Given the description of an element on the screen output the (x, y) to click on. 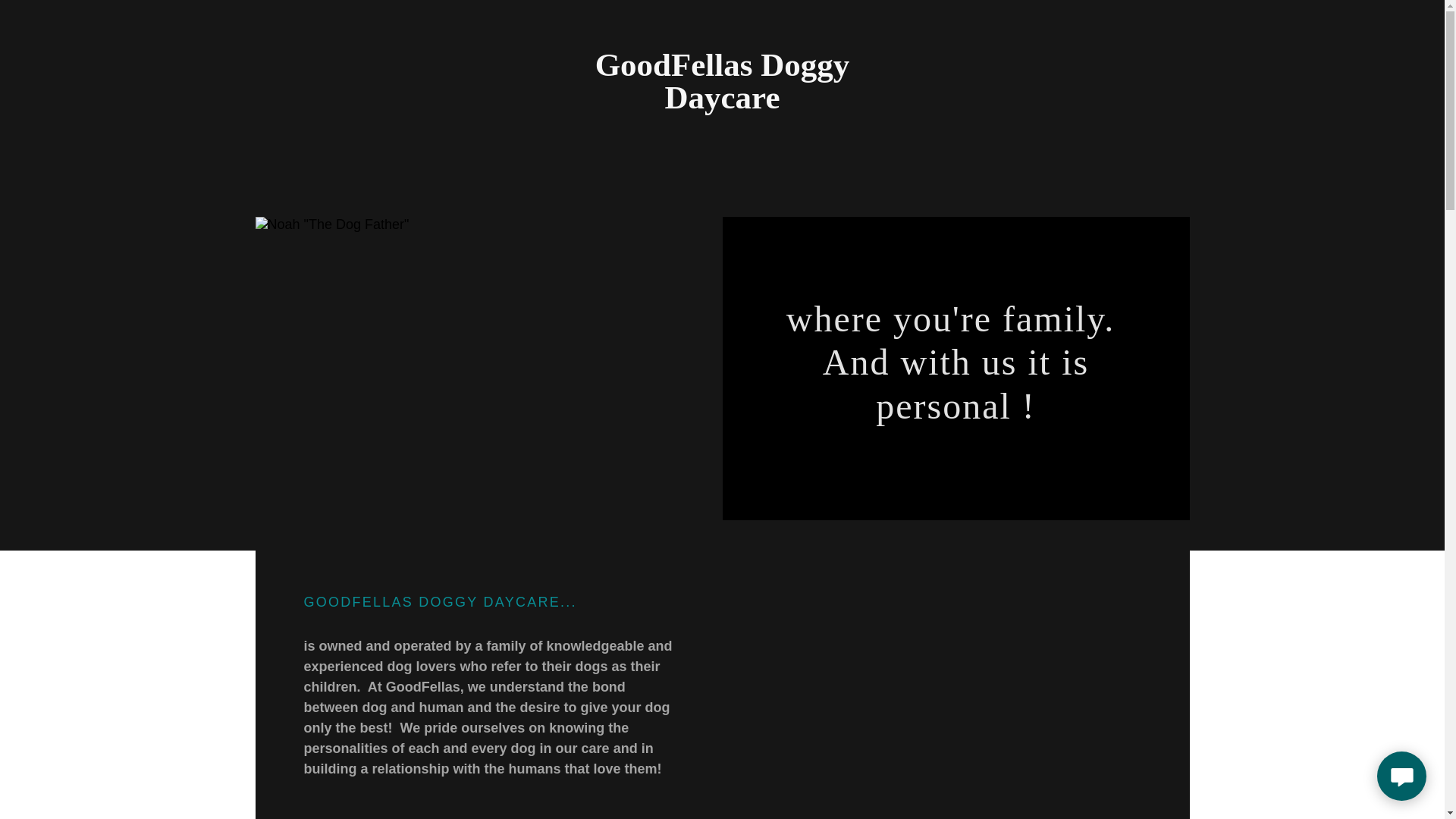
GoodFellas Doggy Daycare (721, 103)
GoodFellas Doggy Daycare (721, 103)
